Given the description of an element on the screen output the (x, y) to click on. 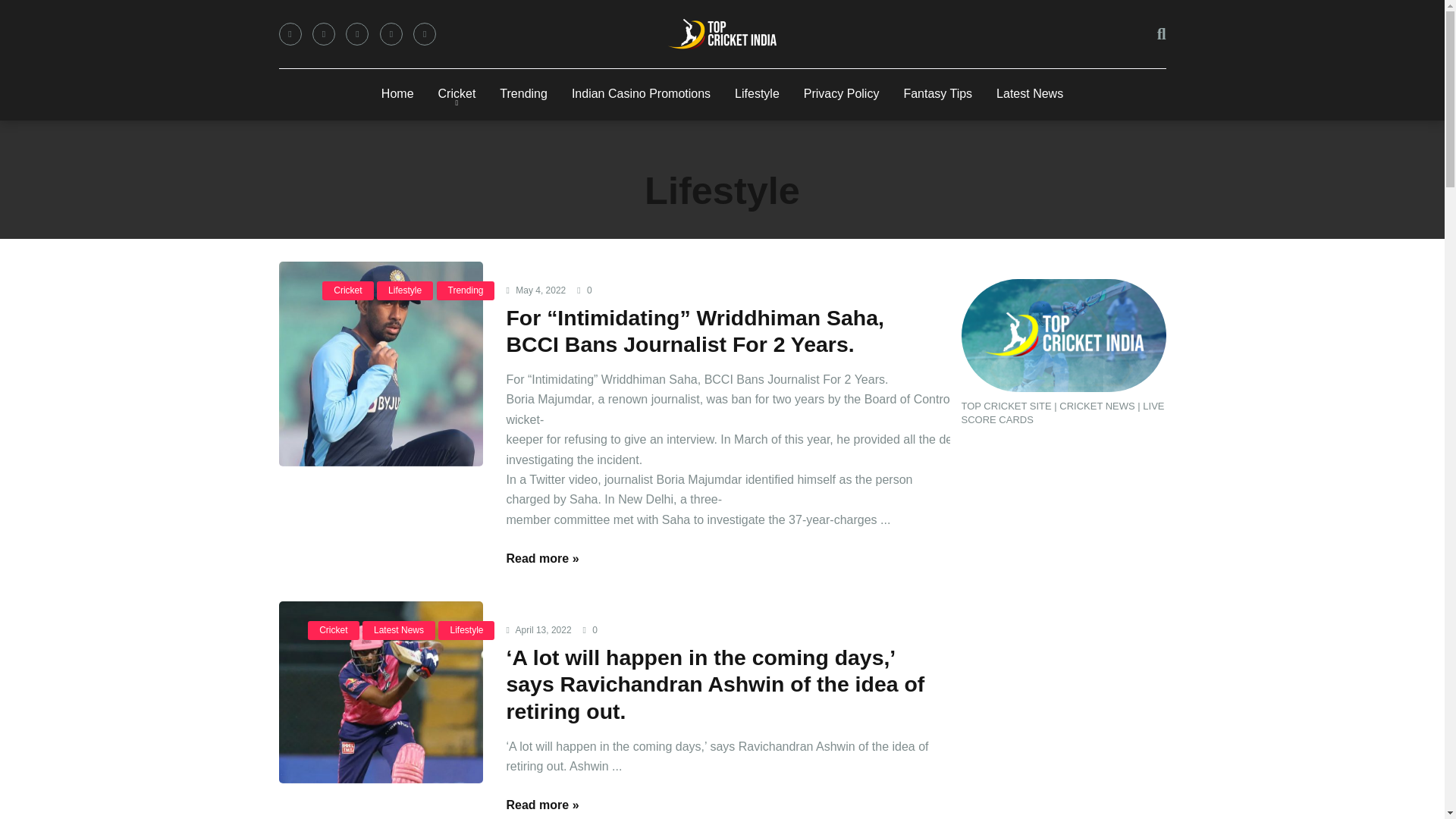
Twitter (323, 33)
Privacy Policy (841, 94)
Latest News (1029, 94)
Cricket (332, 629)
Facebook (290, 33)
Latest News (398, 629)
Read more (541, 558)
Cricket (456, 94)
Read more (541, 804)
Lifestyle (404, 290)
Lifestyle (757, 94)
Trending (523, 94)
Cricket (346, 290)
Fantasy Tips (937, 94)
Lifestyle (466, 629)
